Given the description of an element on the screen output the (x, y) to click on. 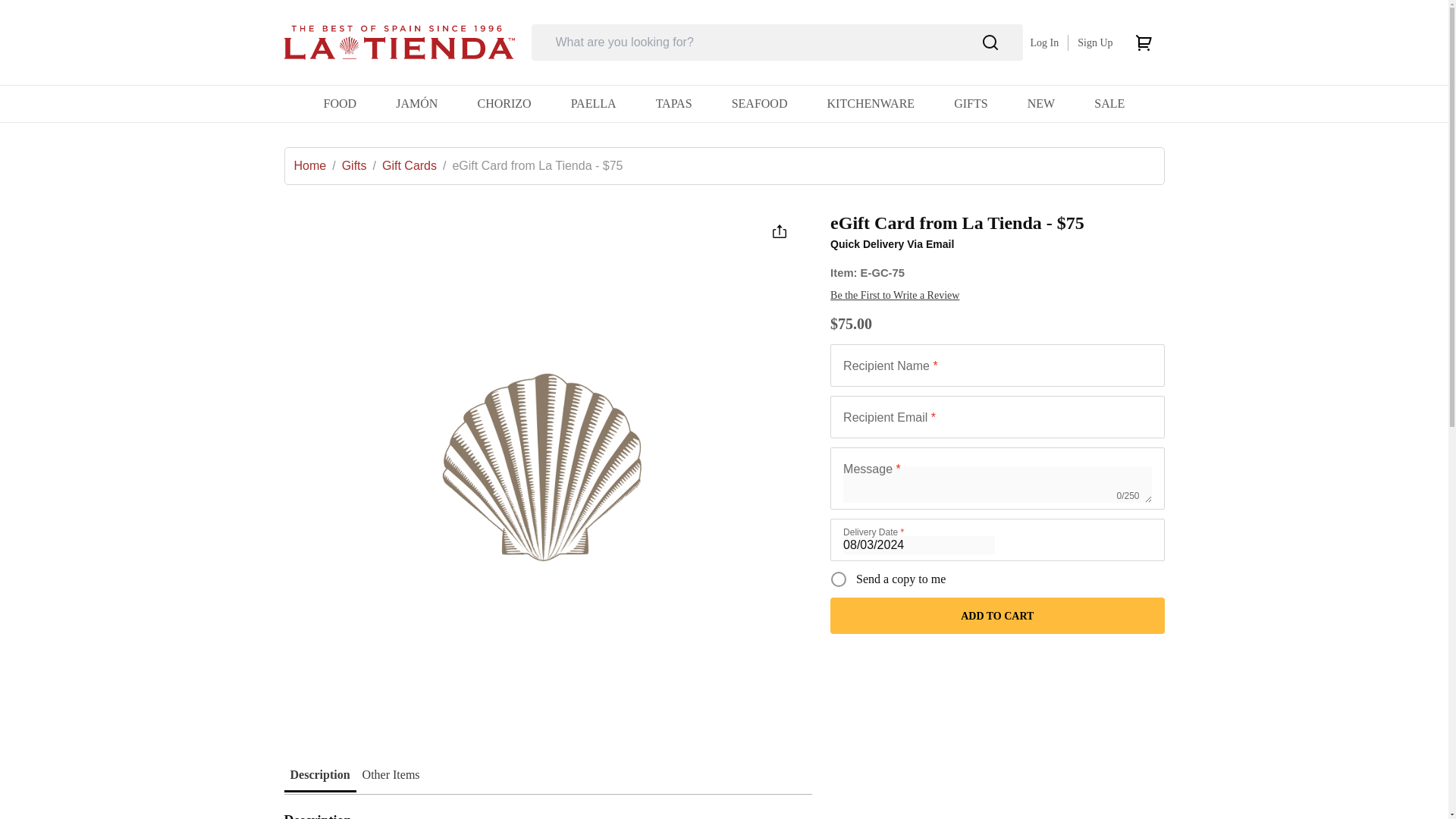
Description (319, 774)
Log In (1043, 41)
NEW (1040, 103)
SEAFOOD (759, 103)
PAELLA (592, 103)
GIFTS (970, 103)
CHORIZO (504, 103)
FOOD (339, 103)
Be the First to Write a Review (894, 295)
Sign Up (1094, 41)
Other Items (391, 774)
KITCHENWARE (871, 103)
SALE (1109, 103)
false (838, 579)
ADD TO CART (996, 615)
